Given the description of an element on the screen output the (x, y) to click on. 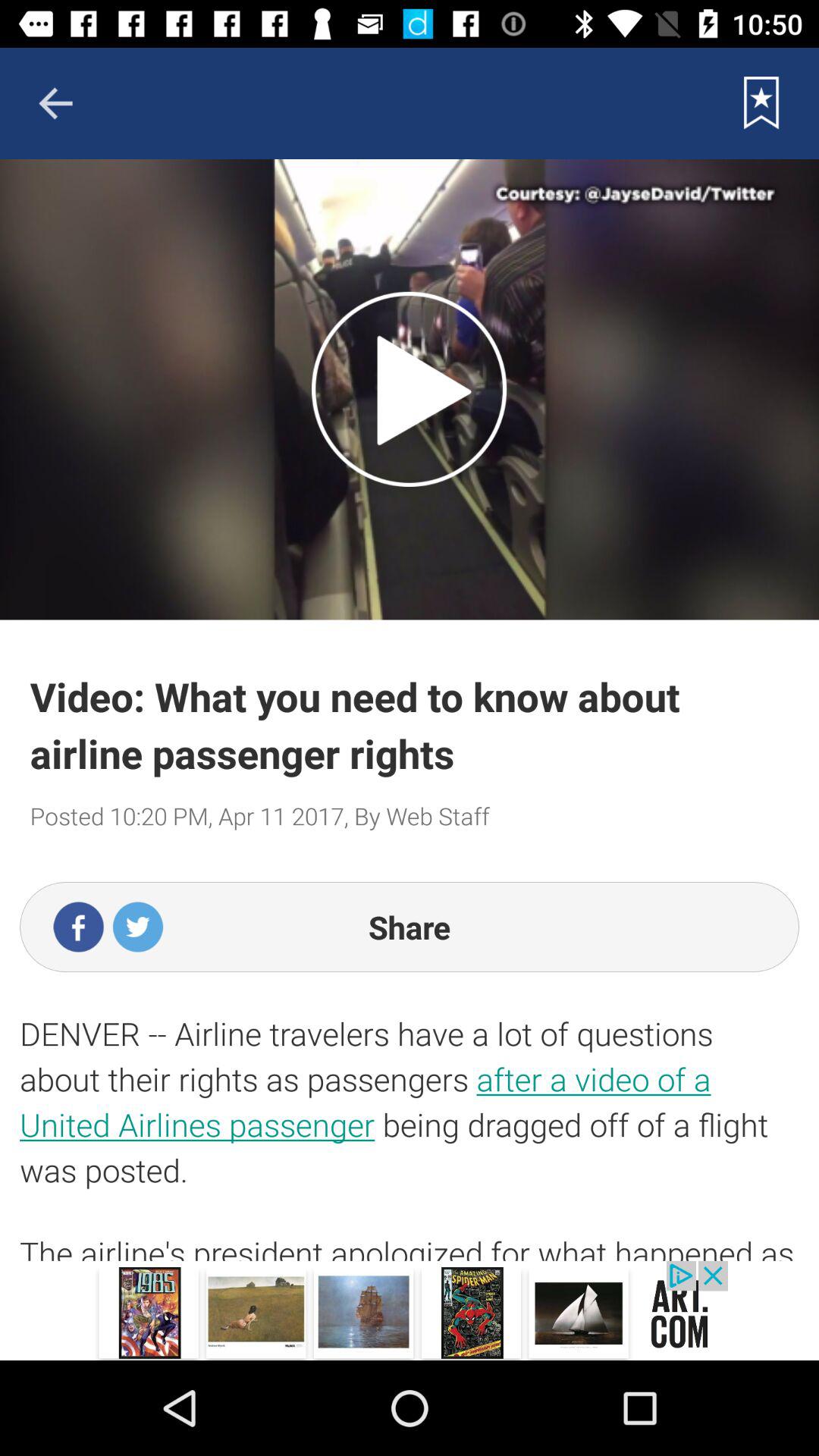
know about the app (409, 1310)
